Given the description of an element on the screen output the (x, y) to click on. 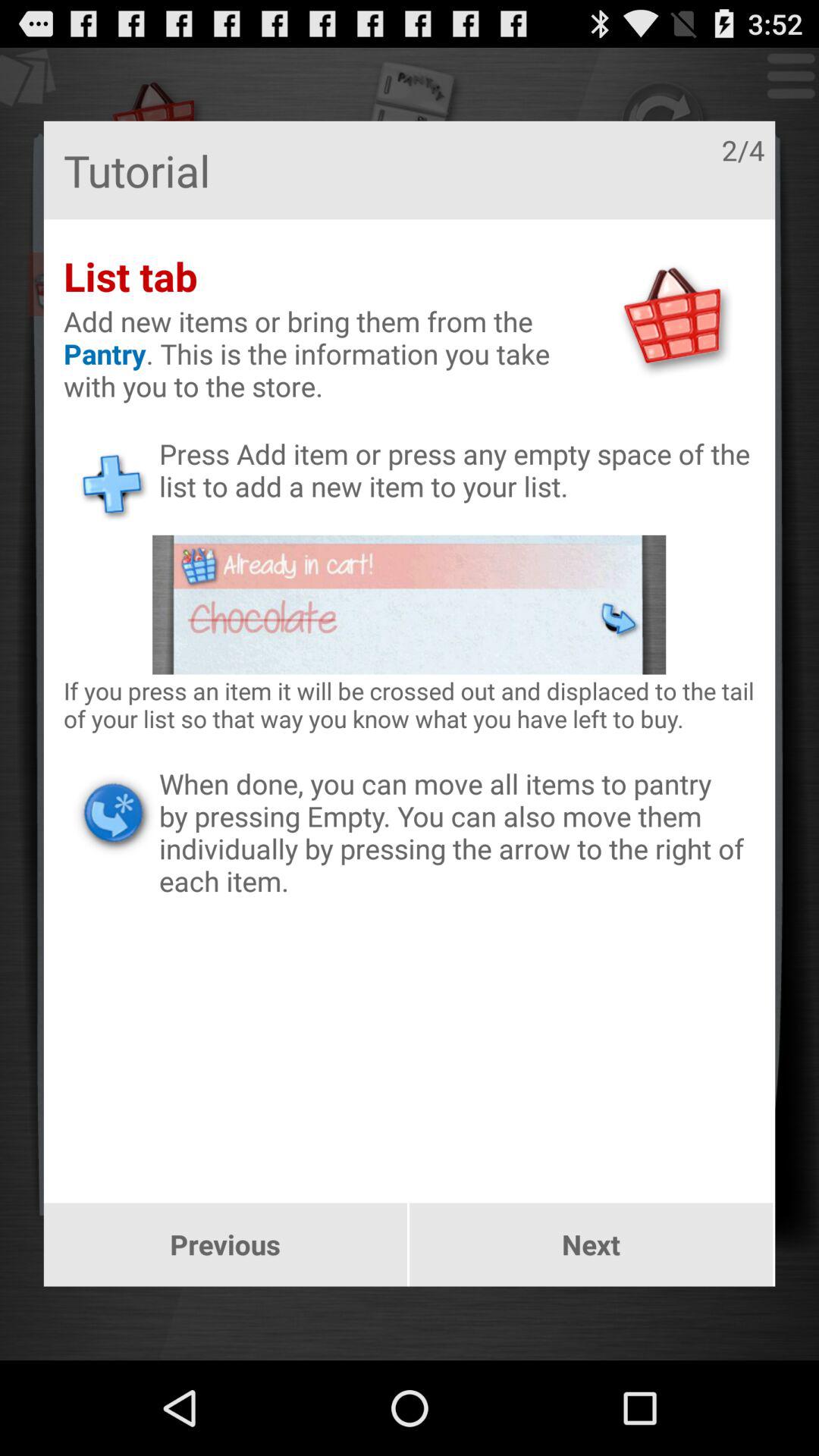
click button to the right of previous icon (590, 1244)
